Given the description of an element on the screen output the (x, y) to click on. 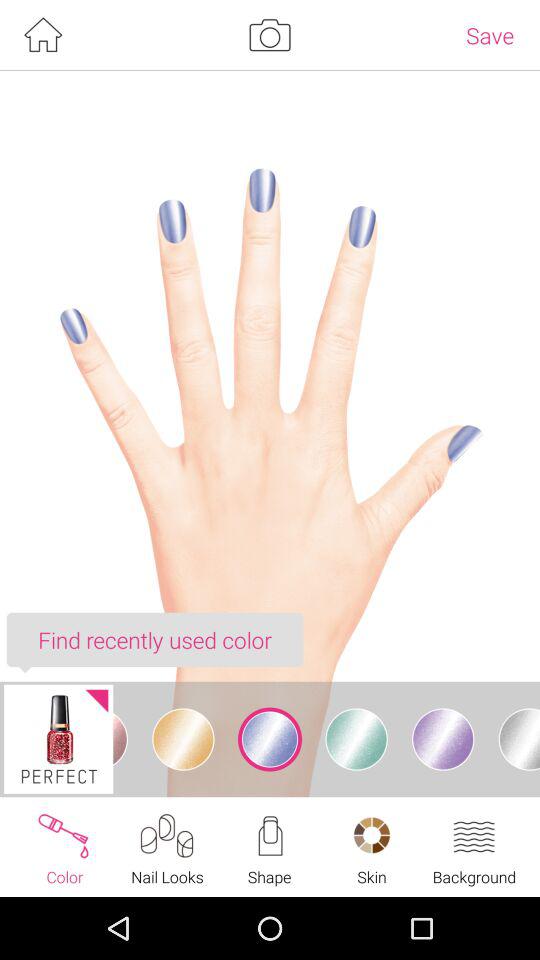
swipe to save app (490, 35)
